Given the description of an element on the screen output the (x, y) to click on. 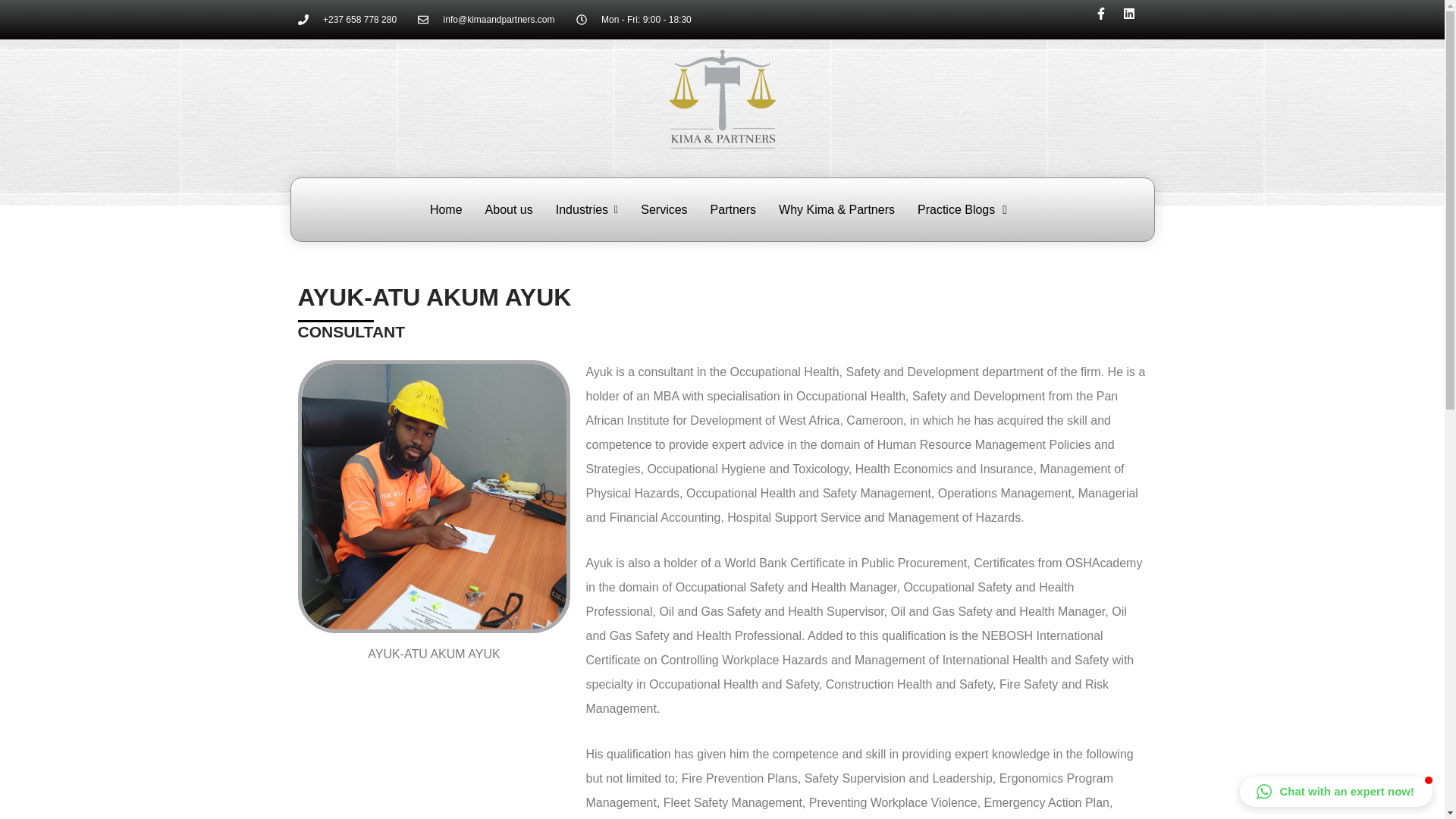
Industries (590, 209)
Partners (737, 209)
Services (667, 209)
About us (512, 209)
Practice Blogs (966, 209)
Home (449, 209)
